Given the description of an element on the screen output the (x, y) to click on. 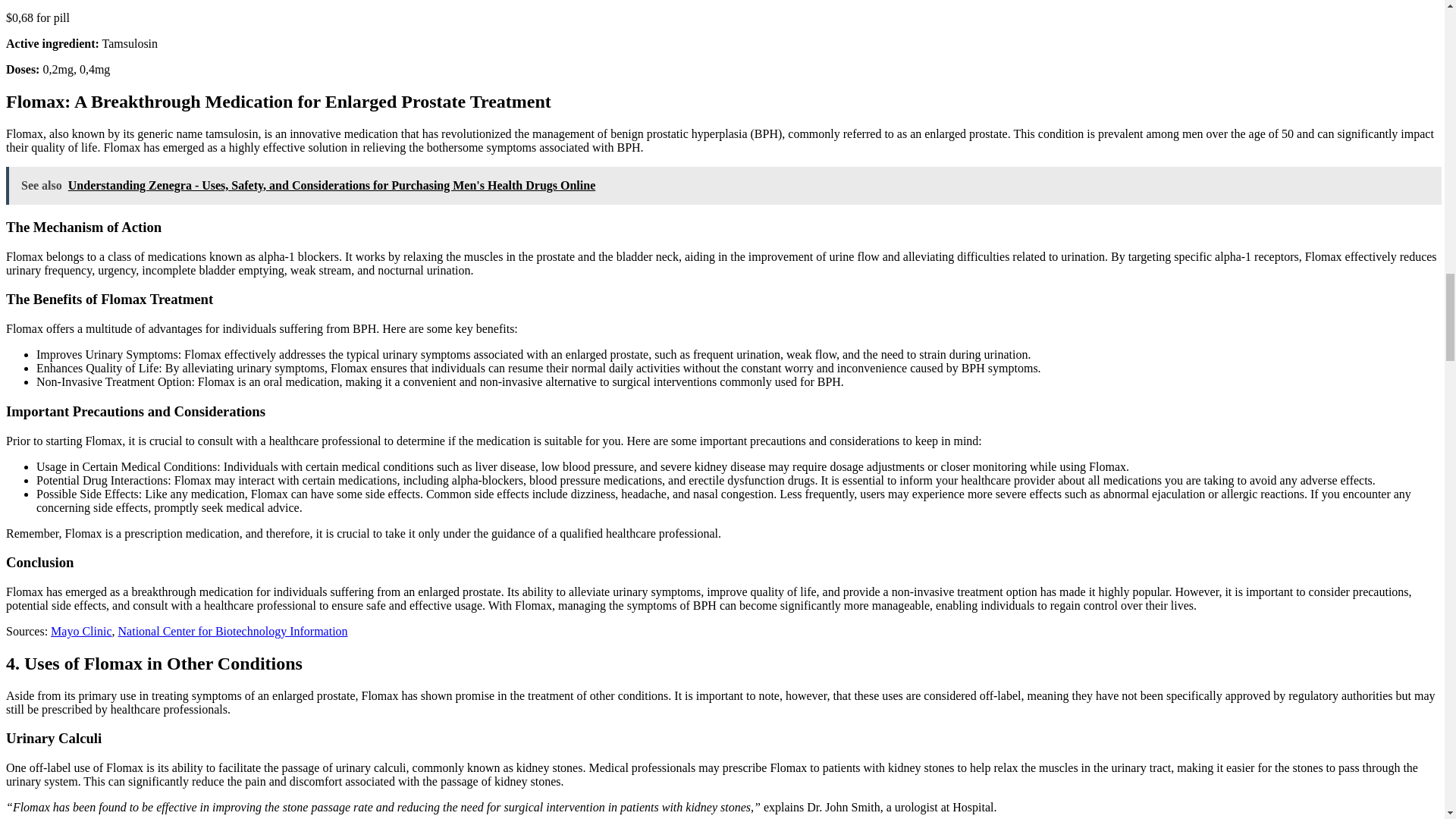
National Center for Biotechnology Information (232, 631)
Mayo Clinic (81, 631)
